Given the description of an element on the screen output the (x, y) to click on. 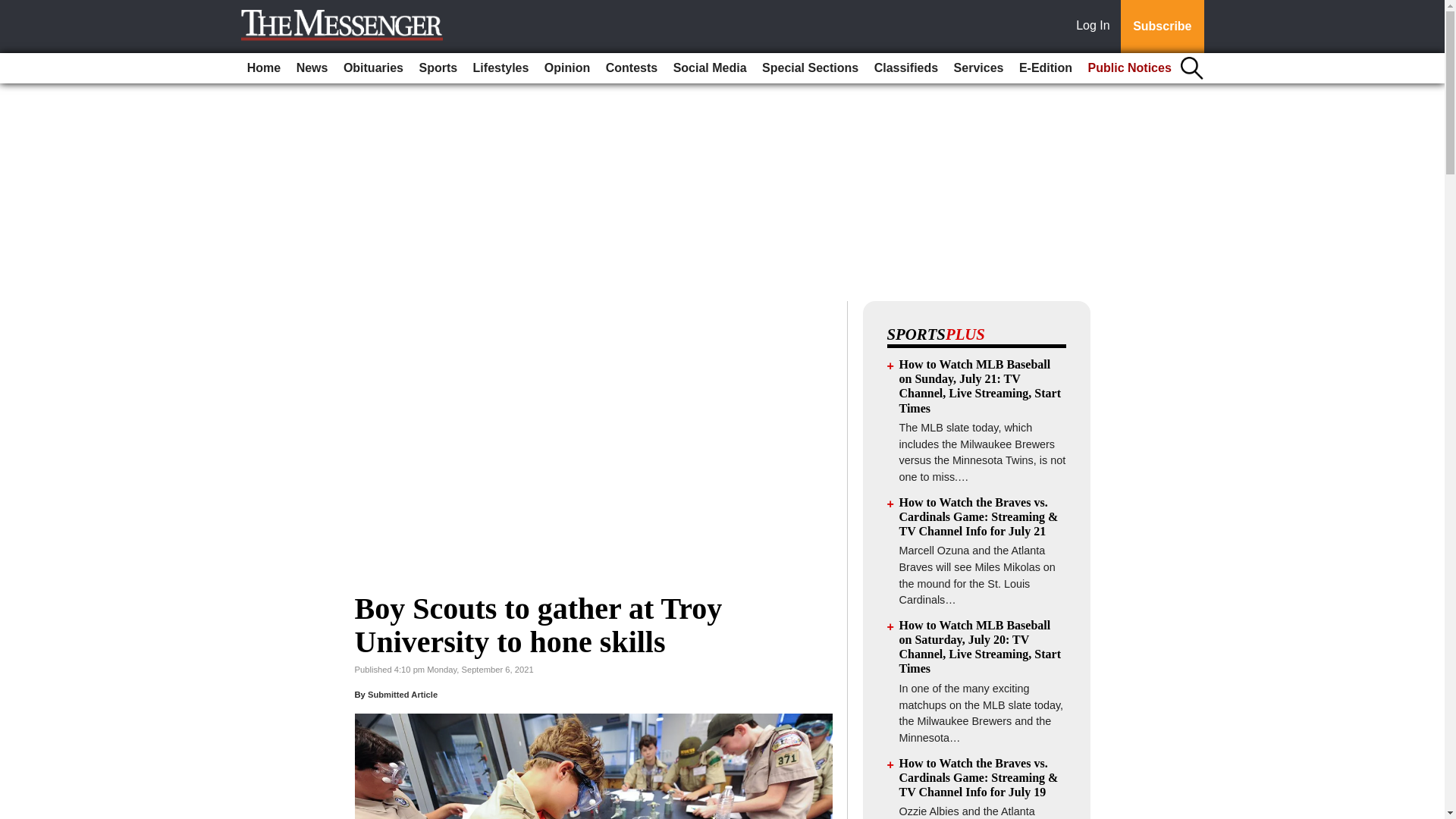
Opinion (566, 68)
Log In (1095, 26)
Special Sections (809, 68)
Social Media (709, 68)
Home (263, 68)
Classifieds (905, 68)
Obituaries (373, 68)
Contests (631, 68)
Sports (437, 68)
Subscribe (1162, 26)
E-Edition (1045, 68)
Services (978, 68)
Lifestyles (501, 68)
News (311, 68)
